Given the description of an element on the screen output the (x, y) to click on. 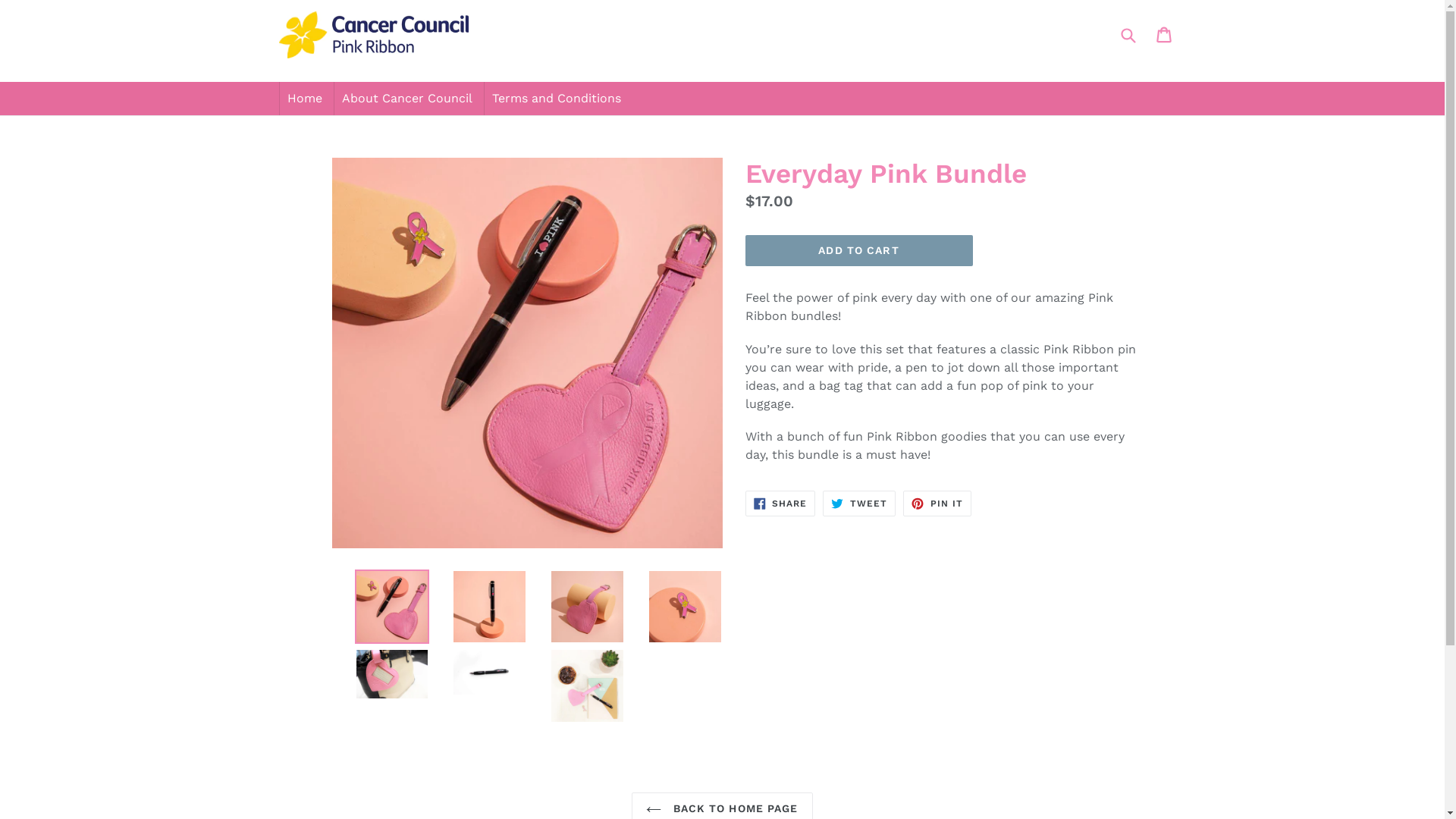
About Cancer Council Element type: text (406, 98)
TWEET
TWEET ON TWITTER Element type: text (858, 503)
Submit Element type: text (1126, 34)
Cart
Cart Element type: text (1164, 34)
Terms and Conditions Element type: text (555, 98)
ADD TO CART Element type: text (858, 250)
PIN IT
PIN ON PINTEREST Element type: text (937, 503)
Home Element type: text (304, 98)
SHARE
SHARE ON FACEBOOK Element type: text (779, 503)
